Given the description of an element on the screen output the (x, y) to click on. 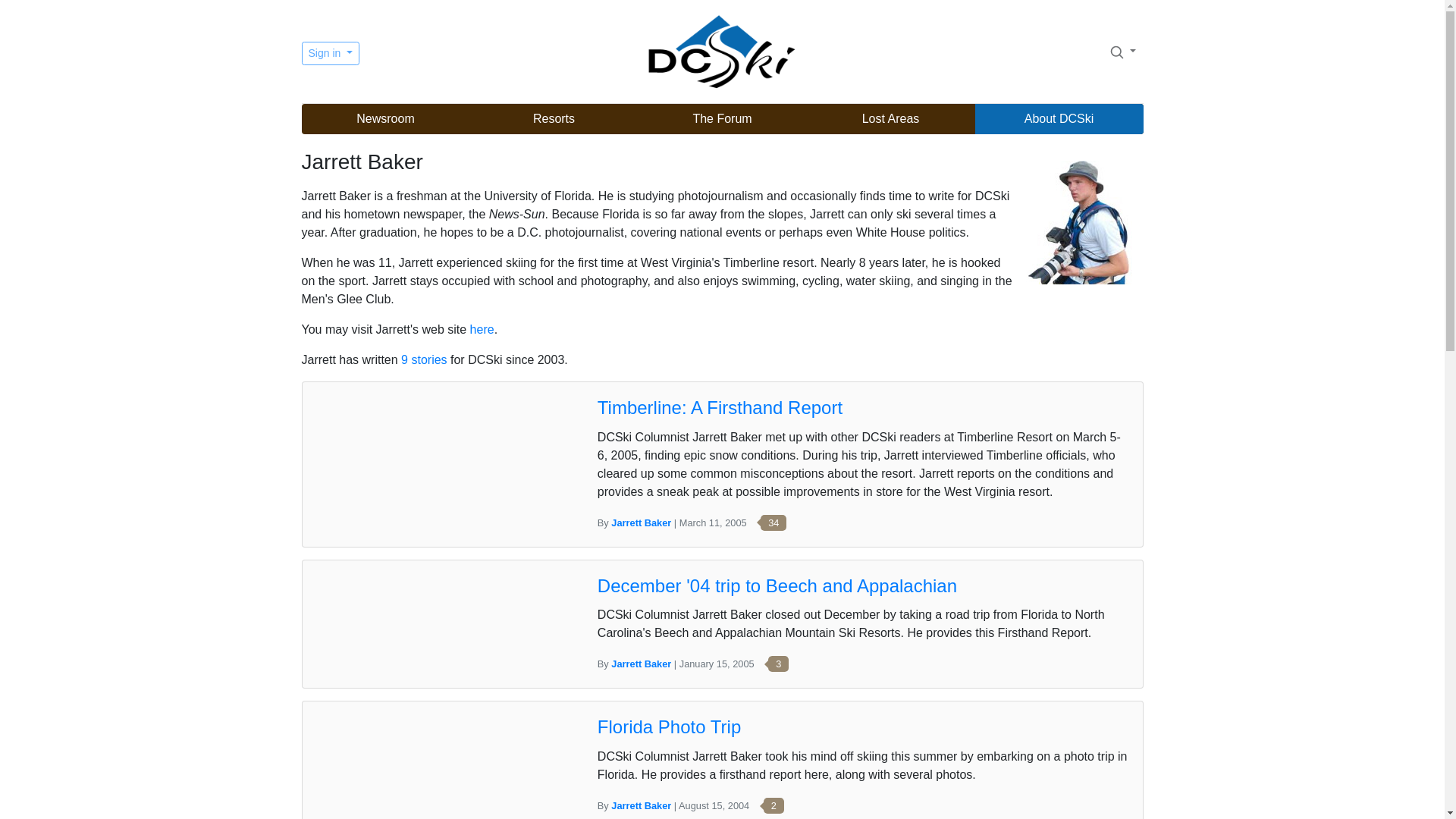
Jarrett Baker (641, 522)
here (482, 328)
3 (773, 663)
Jarrett Baker (641, 663)
Newsroom (385, 119)
Search (1122, 51)
Lost Areas (890, 119)
December '04 trip to Beech and Appalachian (776, 585)
Sign in (330, 53)
Search (1116, 52)
